Given the description of an element on the screen output the (x, y) to click on. 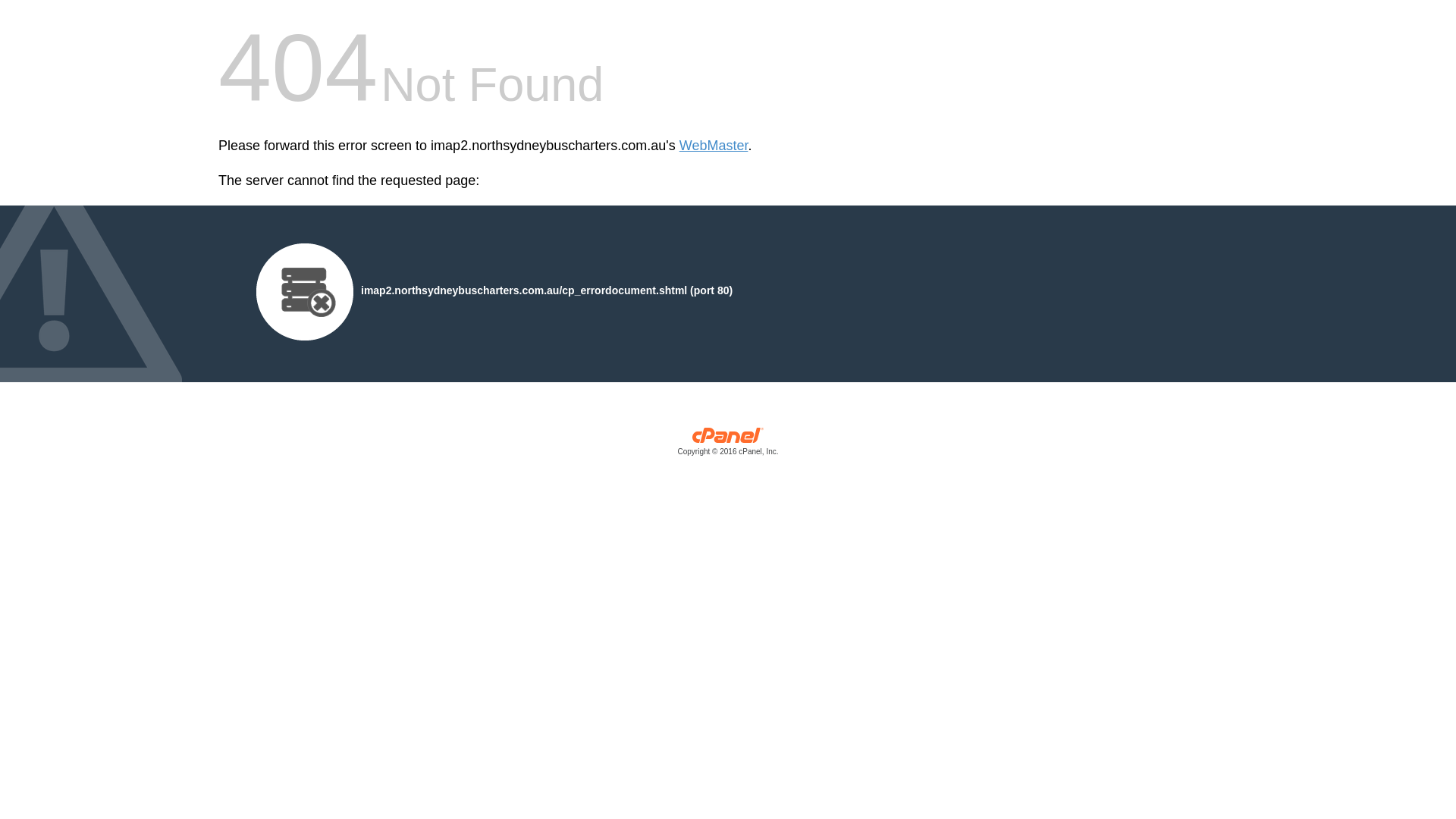
WebMaster Element type: text (713, 145)
